Given the description of an element on the screen output the (x, y) to click on. 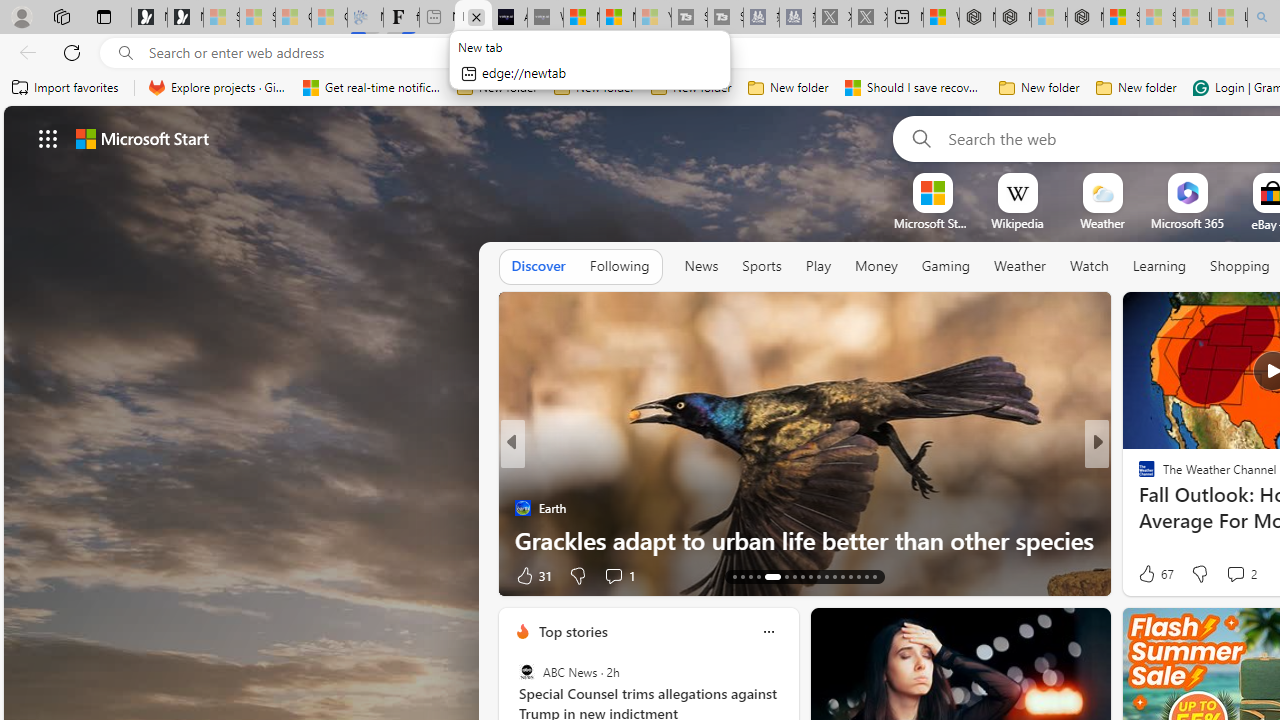
More options (768, 631)
Search icon (125, 53)
Wikipedia (1017, 223)
AutomationID: tab-42 (865, 576)
AutomationID: tab-43 (874, 576)
What's the best AI voice generator? - voice.ai - Sleeping (545, 17)
Sports (761, 265)
Play (818, 267)
AutomationID: tab-21 (767, 576)
AutomationID: tab-40 (850, 576)
257 Like (1151, 574)
AccuWeather (1138, 475)
X - Sleeping (869, 17)
